Given the description of an element on the screen output the (x, y) to click on. 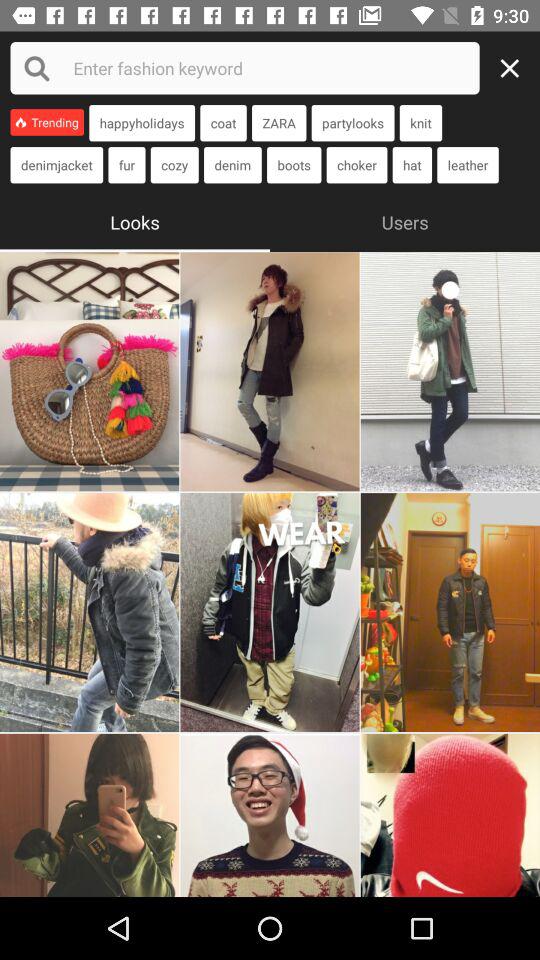
open picture (450, 815)
